Given the description of an element on the screen output the (x, y) to click on. 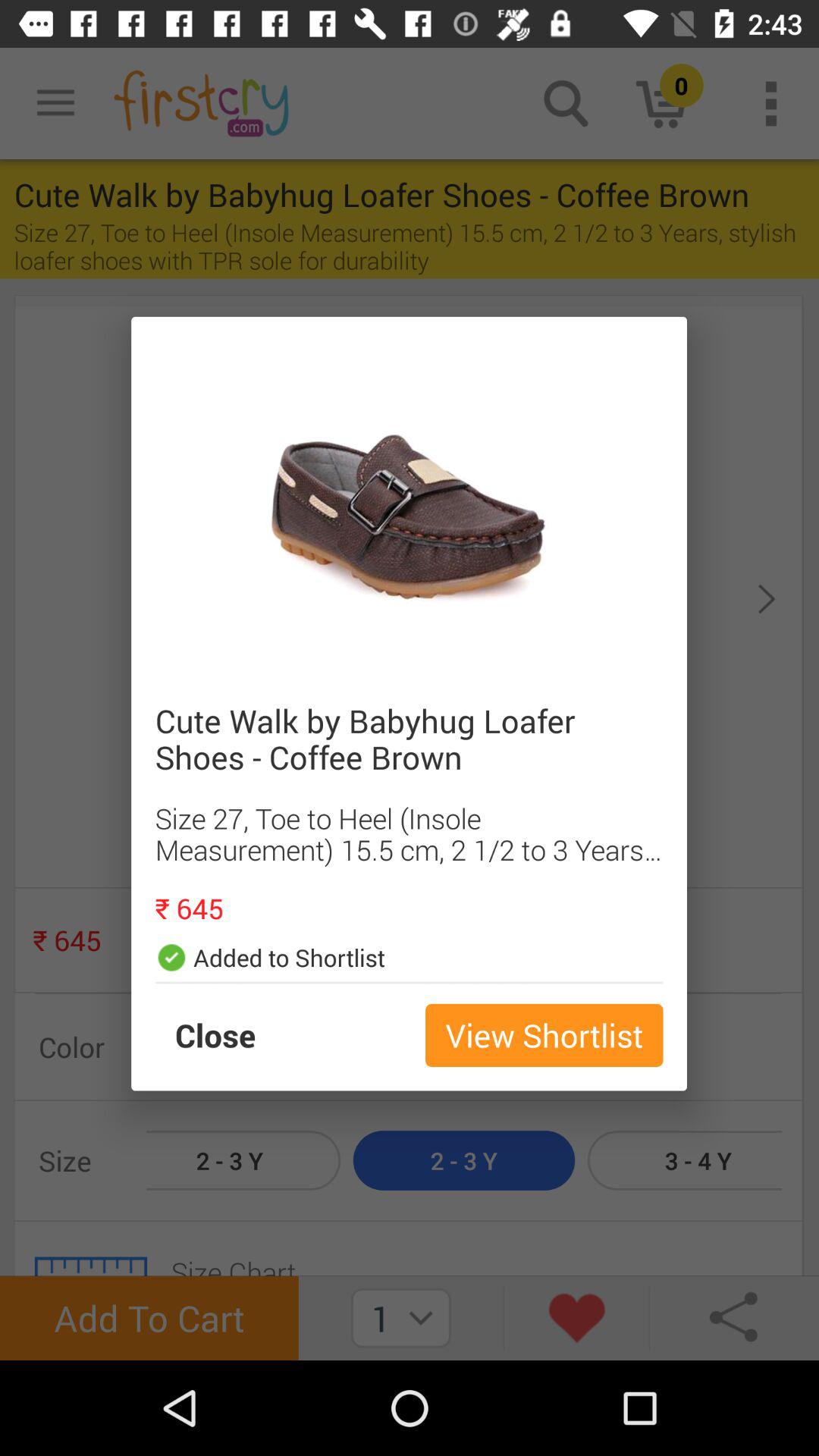
jump until close icon (231, 1034)
